Given the description of an element on the screen output the (x, y) to click on. 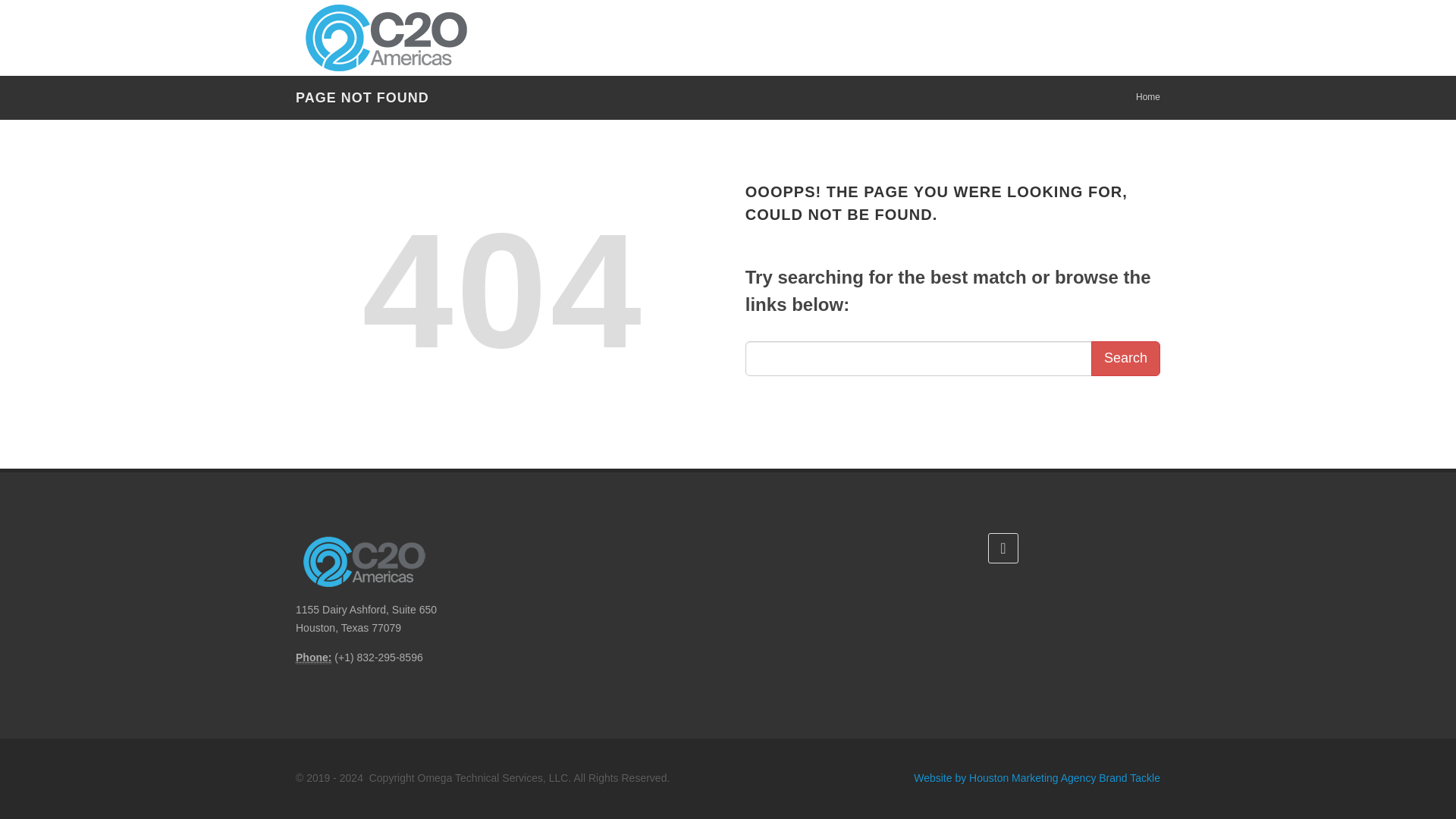
Website by Houston Marketing Agency Brand Tackle (1037, 777)
Search (1125, 358)
Search (1125, 358)
Home (1147, 96)
Phone Number (313, 657)
Search (1125, 358)
